Given the description of an element on the screen output the (x, y) to click on. 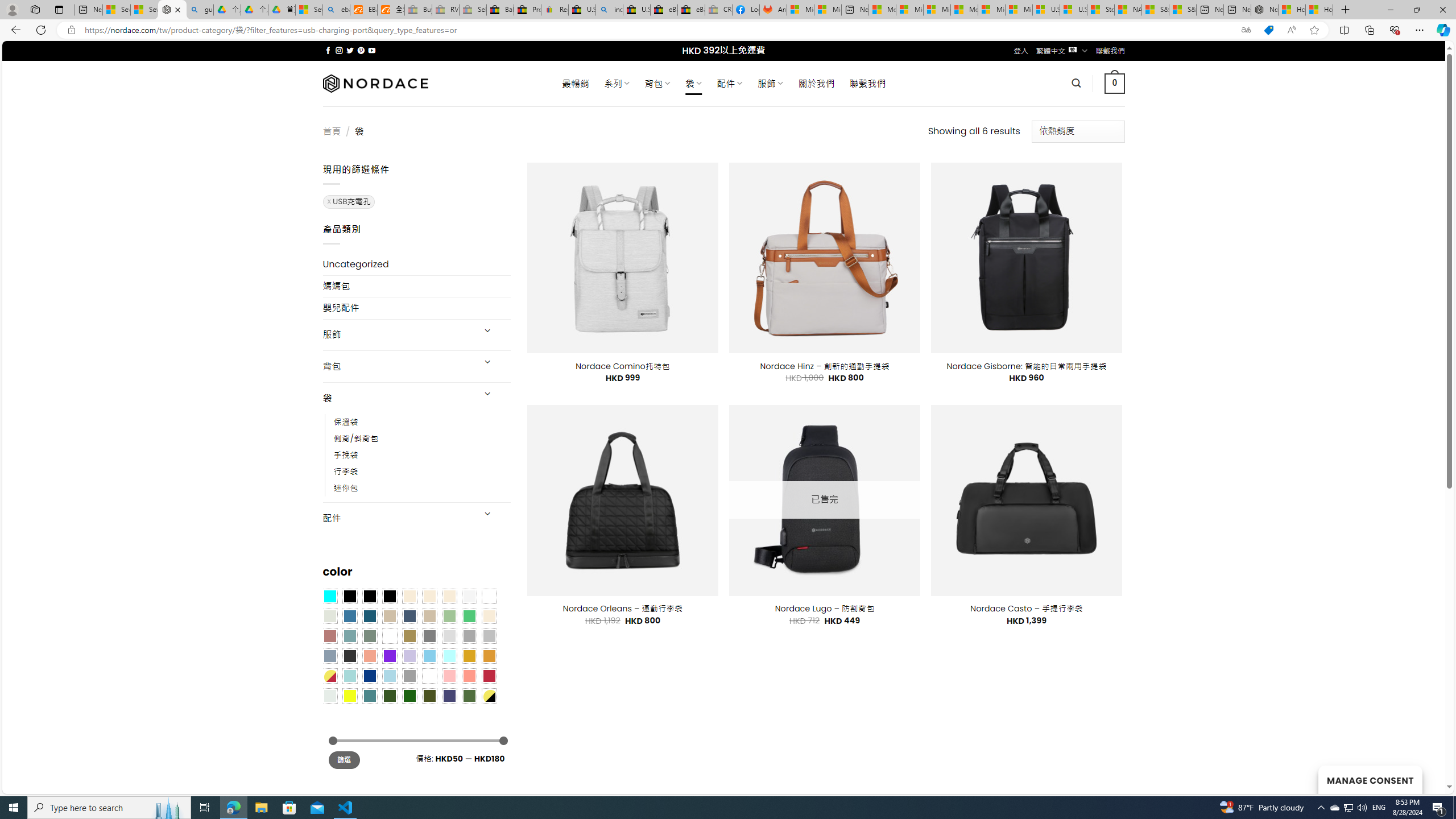
Follow on YouTube (371, 50)
Log into Facebook (746, 9)
